Given the description of an element on the screen output the (x, y) to click on. 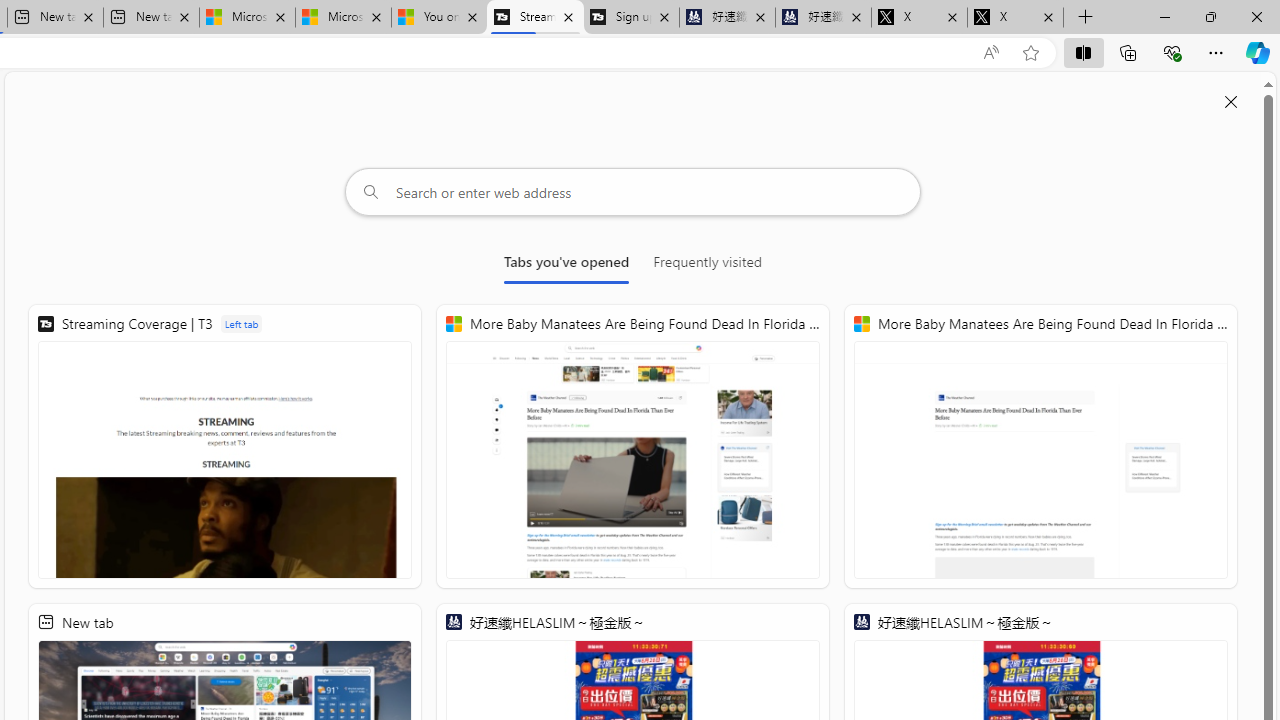
Minimize (1164, 16)
Search or enter web address (633, 191)
Frequently visited (707, 265)
Browser essentials (1171, 52)
Tabs you've opened (566, 265)
Microsoft Start Sports (247, 17)
Streaming Coverage | T3 (225, 446)
X (1015, 17)
Read aloud this page (Ctrl+Shift+U) (991, 53)
Streaming Coverage | T3 (534, 17)
Settings and more (Alt+F) (1215, 52)
